Given the description of an element on the screen output the (x, y) to click on. 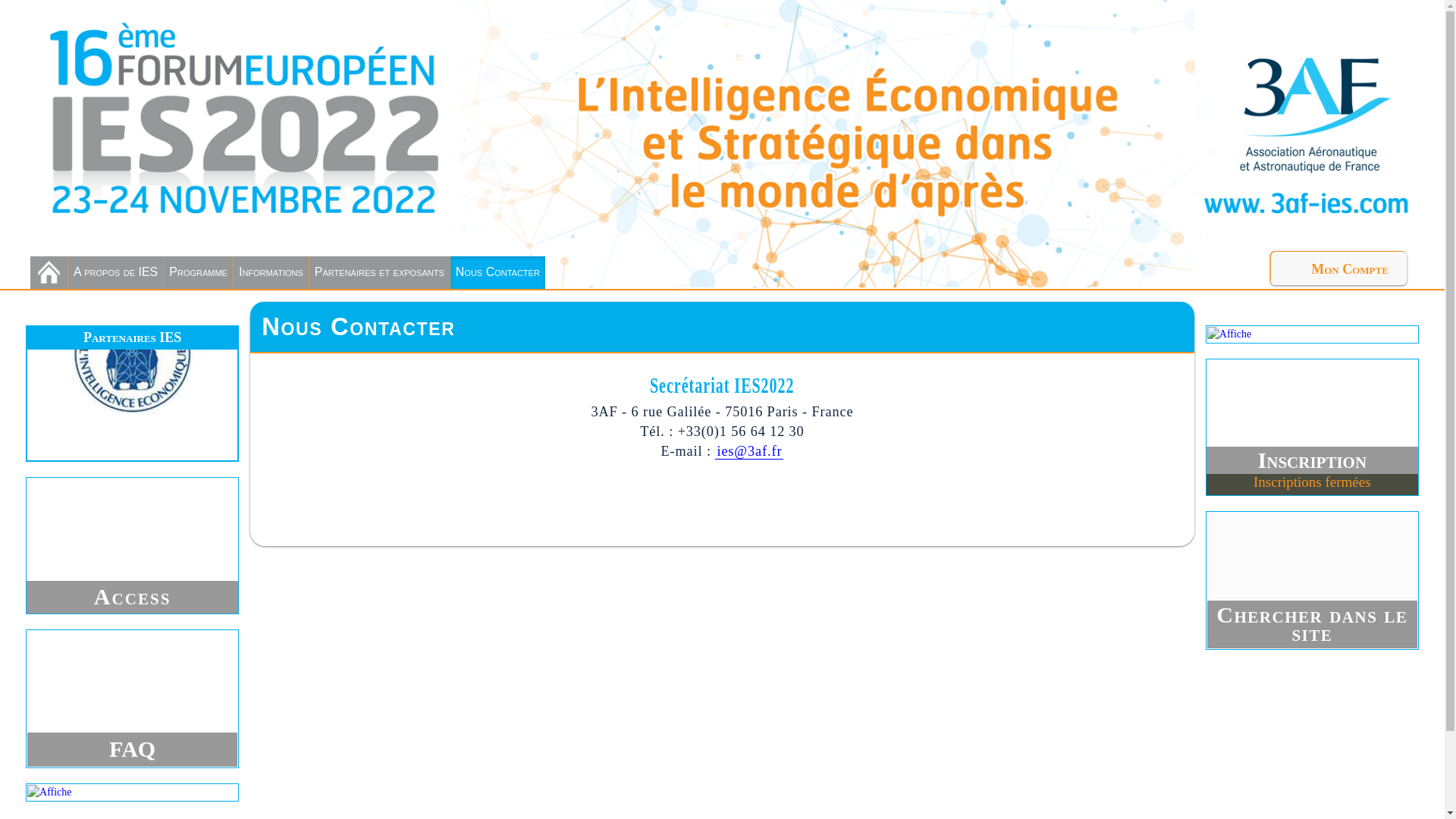
Informations Element type: text (271, 272)
Mon Compte Element type: text (1338, 268)
A propos de IES Element type: text (115, 272)
Programme Element type: text (198, 272)
ies@3af.fr Element type: text (749, 451)
Nous Contacter Element type: text (497, 272)
Partenaires et exposants Element type: text (379, 272)
